Given the description of an element on the screen output the (x, y) to click on. 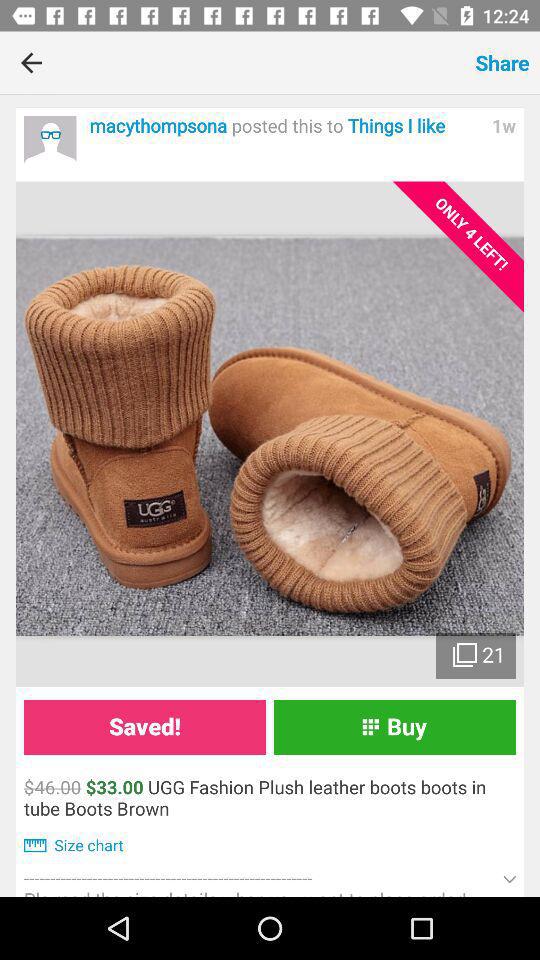
select the macythompsona posted this icon (285, 126)
